Given the description of an element on the screen output the (x, y) to click on. 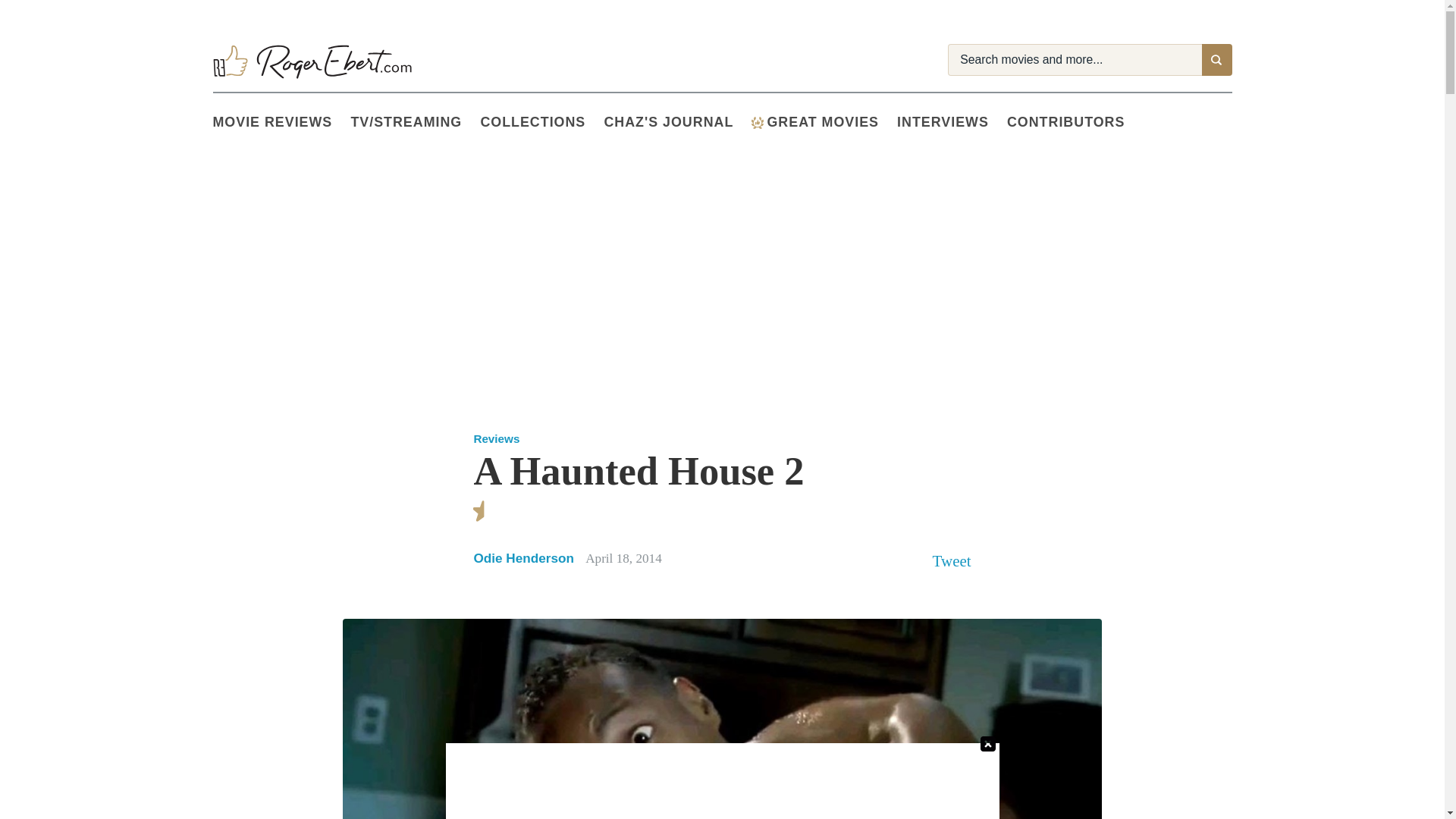
CHAZ'S JOURNAL (677, 122)
Search (1216, 60)
INTERVIEWS (951, 122)
COLLECTIONS (542, 122)
Great Movies (756, 122)
Collections (542, 122)
Interviews (951, 122)
CONTRIBUTORS (1074, 122)
Odie Henderson (523, 557)
star-half (484, 511)
